Given the description of an element on the screen output the (x, y) to click on. 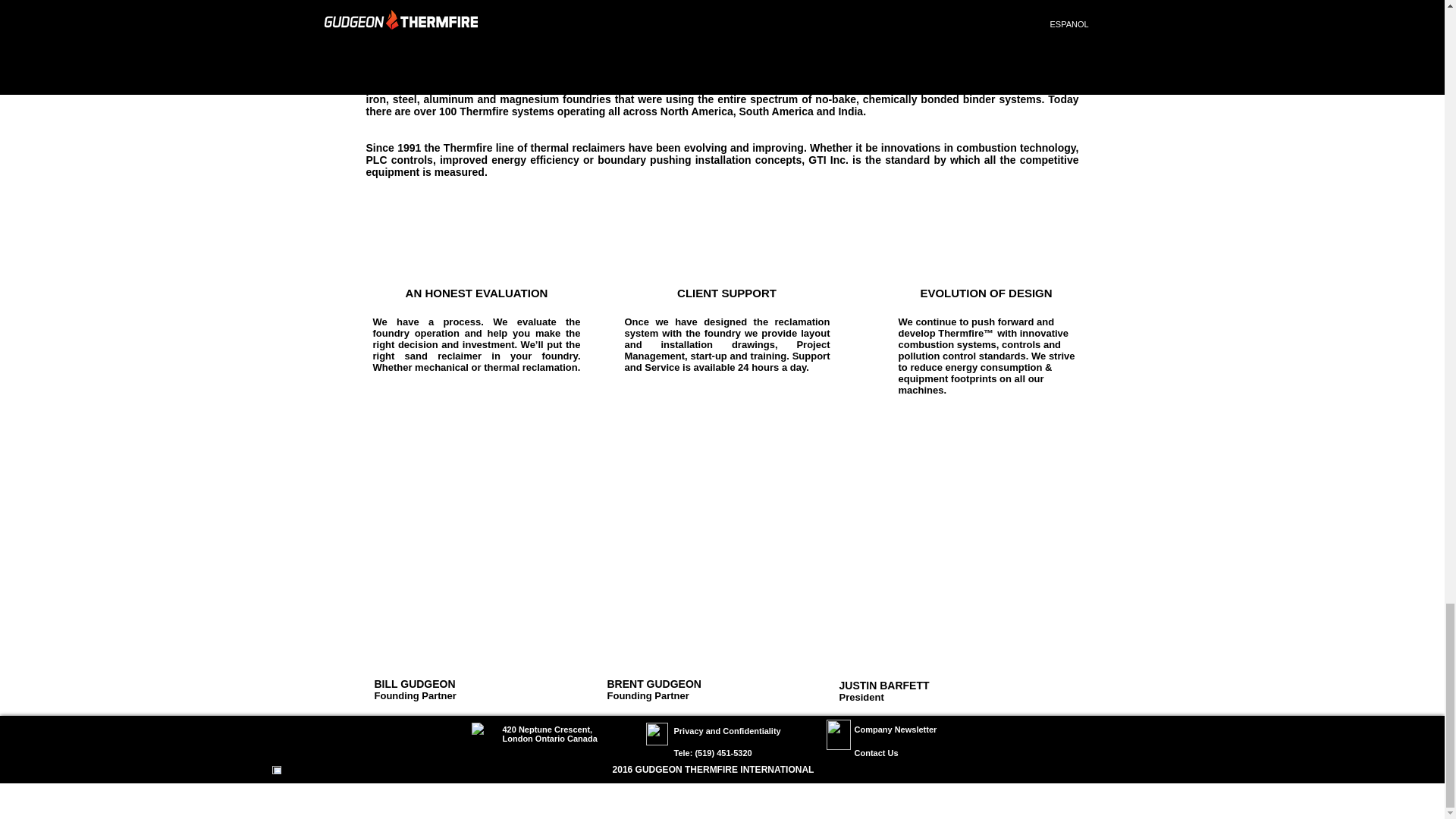
Privacy and Confidentiality (726, 730)
Company Newsletter (894, 728)
Proundly Developed by Response Generators (711, 792)
thermal sand reclamation (483, 734)
Contact Us (875, 752)
2016 GUDGEON THERMFIRE INTERNATIONAL (712, 769)
